Given the description of an element on the screen output the (x, y) to click on. 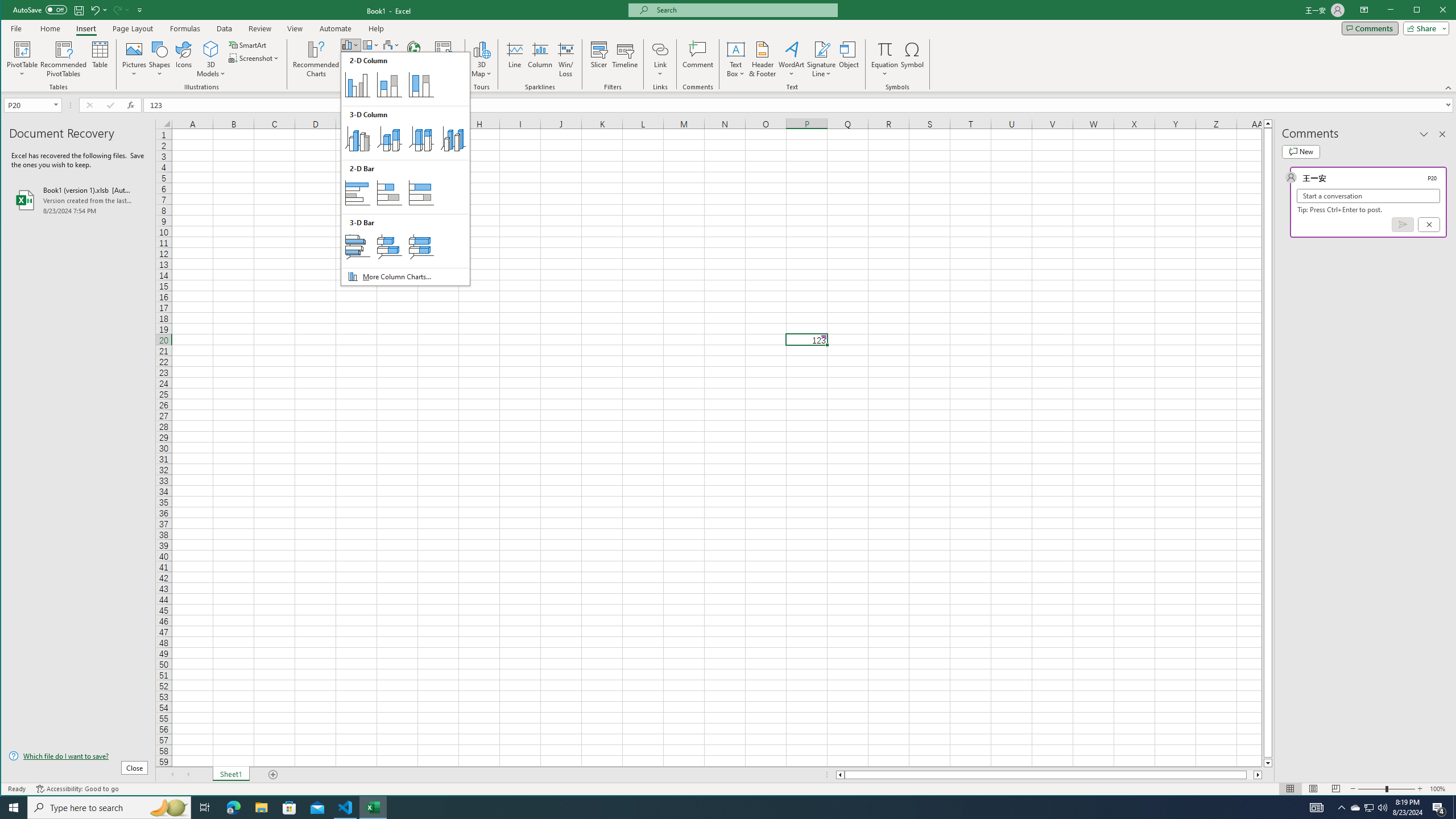
Zoom Out (1372, 788)
File Explorer (261, 807)
Close pane (1441, 133)
Microsoft Edge (233, 807)
Line (514, 59)
Sheet1 (230, 774)
Open (56, 105)
User Promoted Notification Area (1368, 807)
Header & Footer... (762, 59)
Zoom In (1420, 788)
Symbol... (912, 59)
Ribbon Display Options (1364, 9)
Page Break Preview (1335, 788)
